Given the description of an element on the screen output the (x, y) to click on. 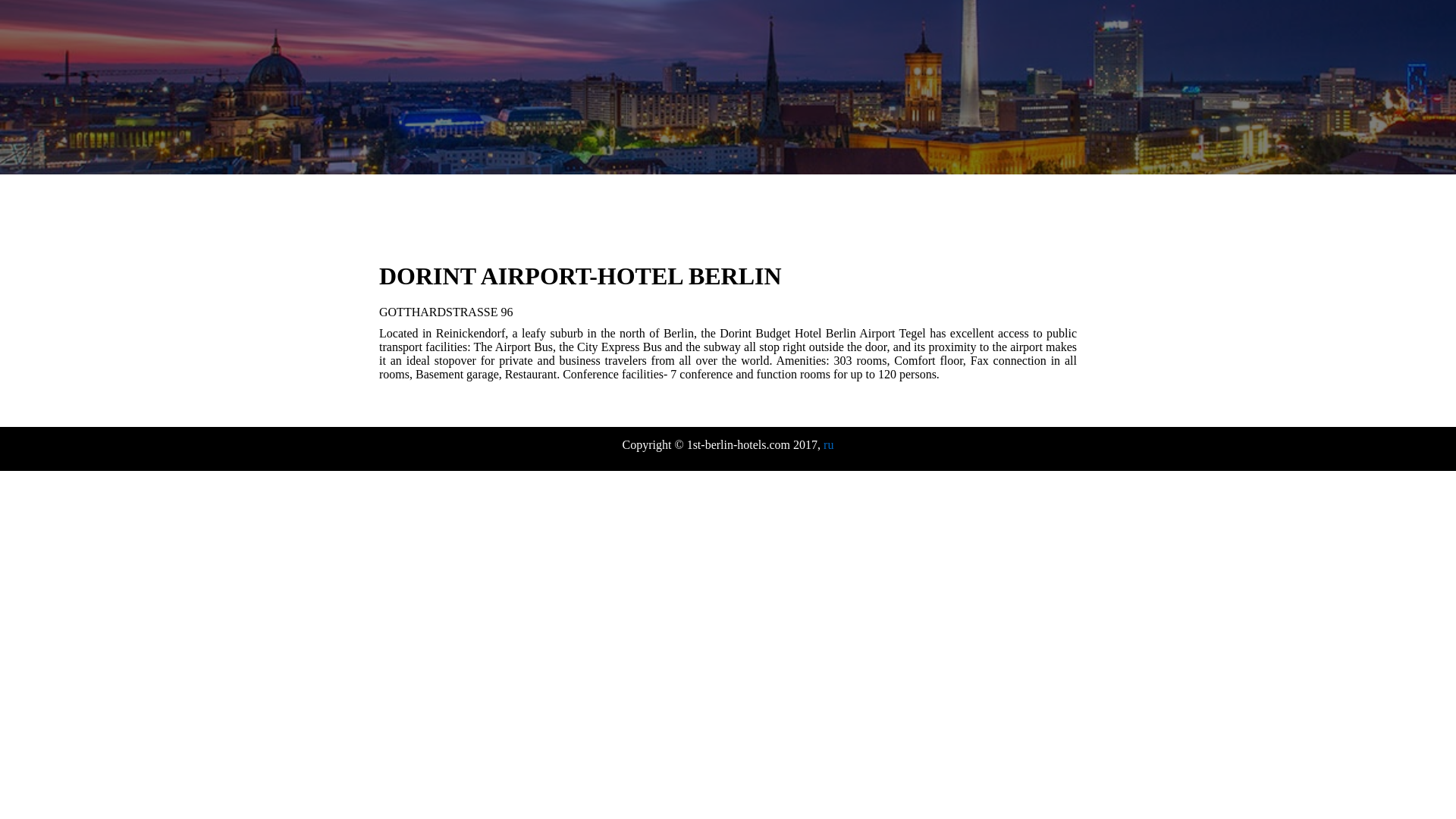
ru Element type: text (828, 444)
